Given the description of an element on the screen output the (x, y) to click on. 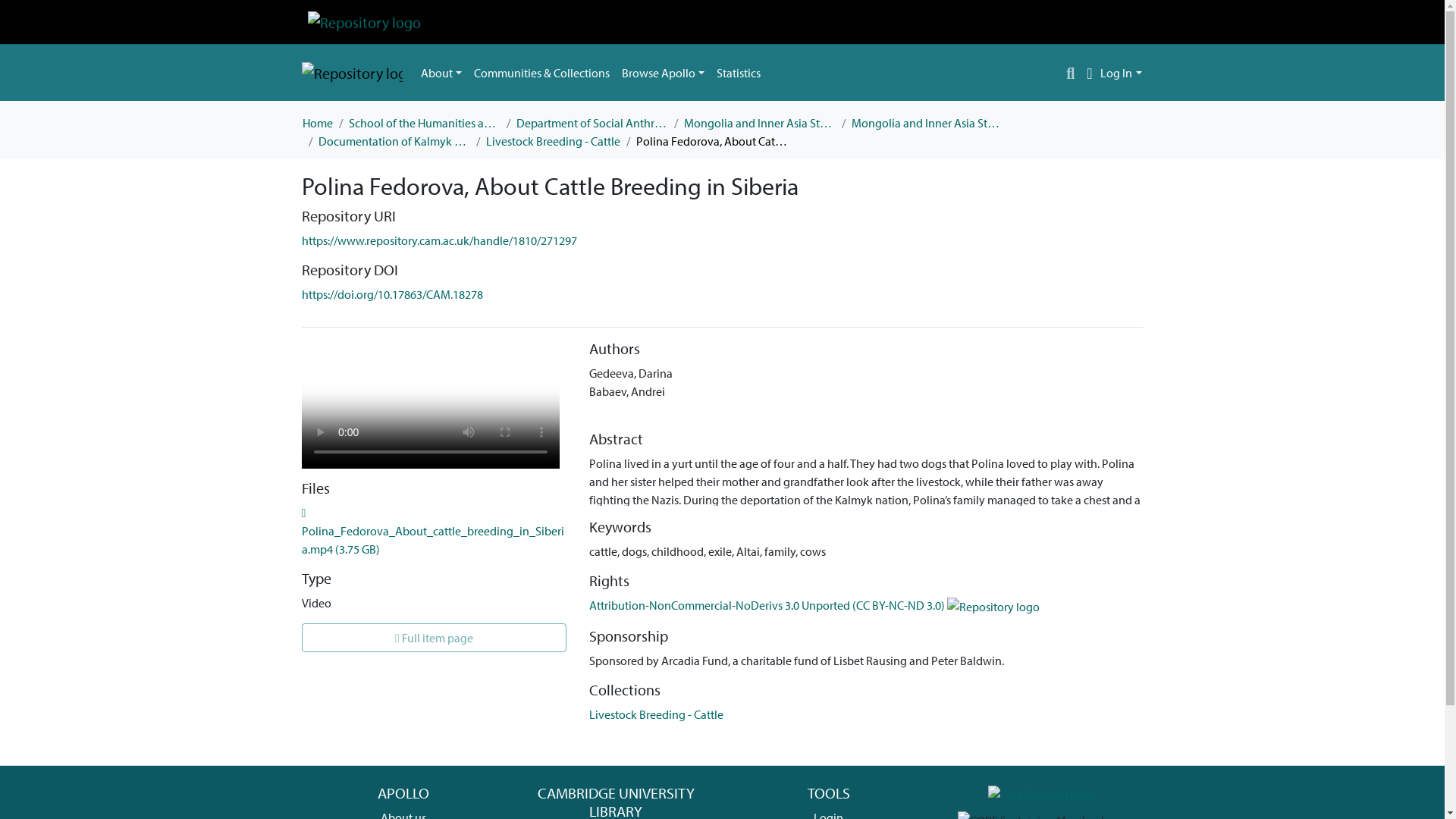
Browse Apollo (662, 72)
Mongolia and Inner Asia Studies Unit (759, 122)
Livestock Breeding - Cattle (656, 713)
Statistics (738, 72)
School of the Humanities and Social Sciences (424, 122)
Livestock Breeding - Cattle (552, 140)
Search (1070, 72)
Department of Social Anthropology (590, 122)
Full item page (434, 637)
Statistics (738, 72)
